Given the description of an element on the screen output the (x, y) to click on. 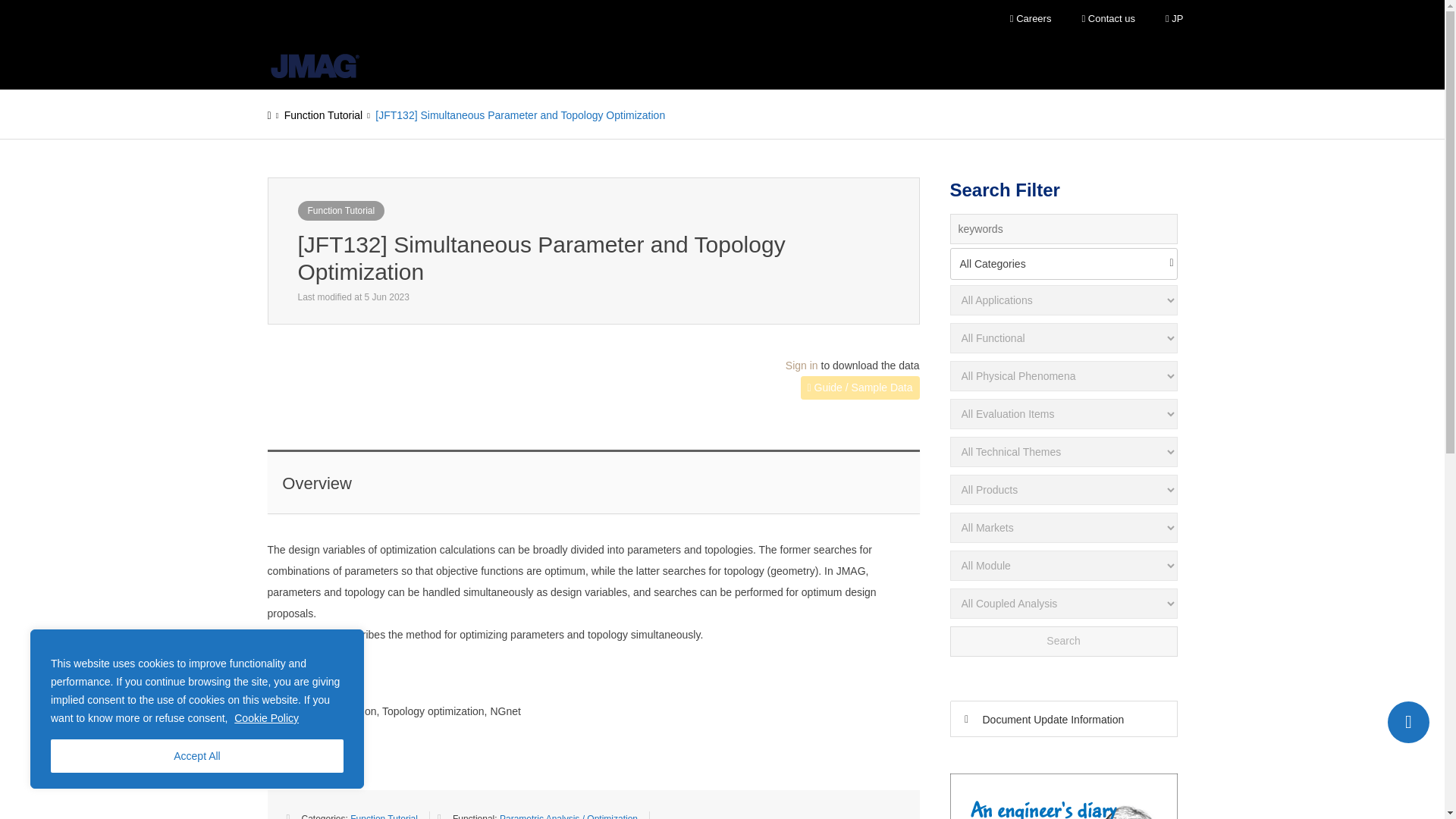
Solutions (576, 63)
Simulation Technology for Electromechanical Design : JMAG (313, 63)
Contact (1408, 721)
Careers (1030, 19)
Technical Library (755, 63)
Simulation Technology for Electromechanical Design : JMAG (313, 66)
JP (1174, 19)
Academia (658, 63)
Accept All (196, 756)
Products (497, 63)
